Given the description of an element on the screen output the (x, y) to click on. 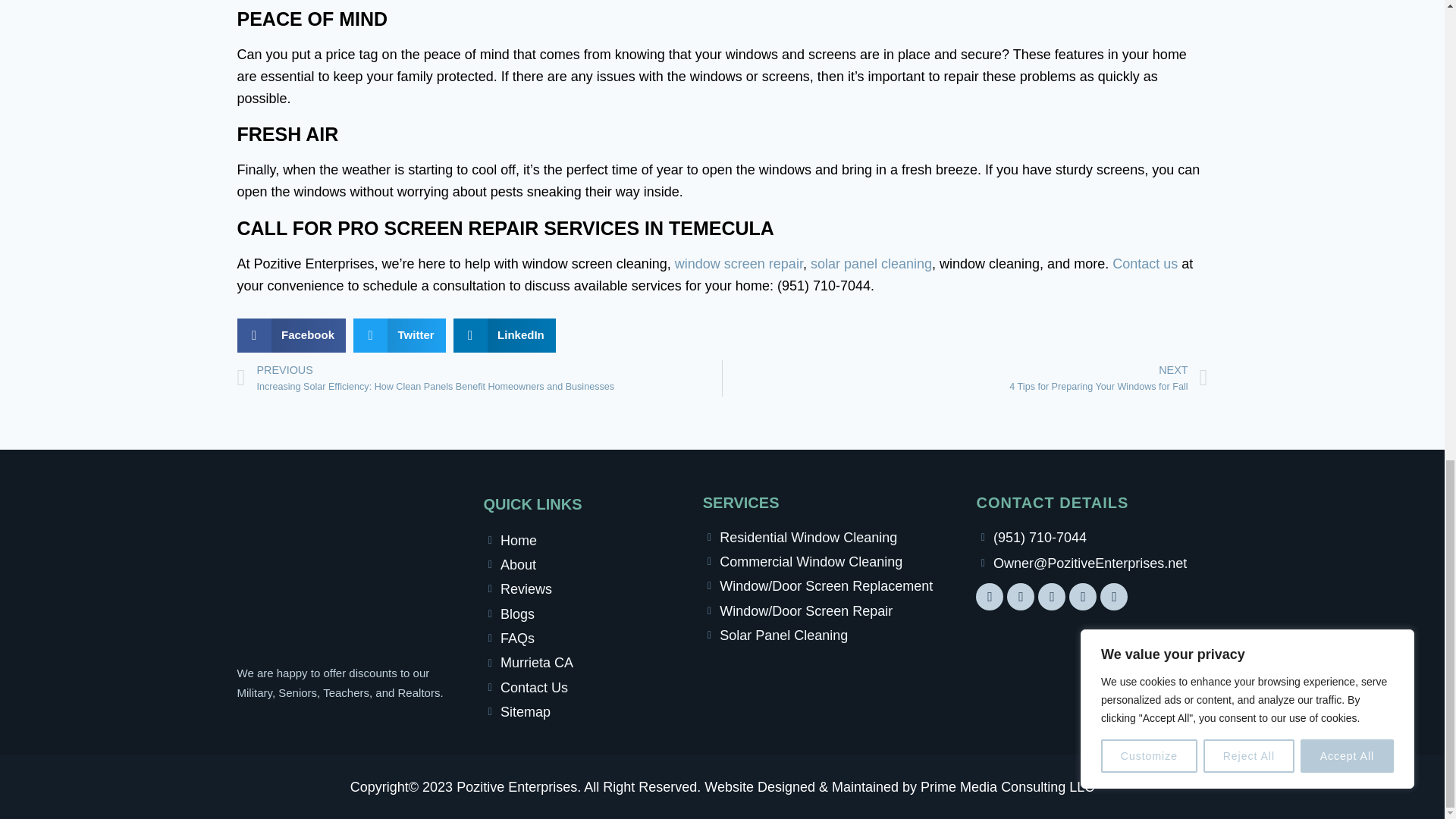
Contact us (1144, 263)
window screen repair (739, 263)
solar panel cleaning (870, 263)
About Pozitive Enterprises (585, 564)
Pozitive Enterprises (585, 540)
